Given the description of an element on the screen output the (x, y) to click on. 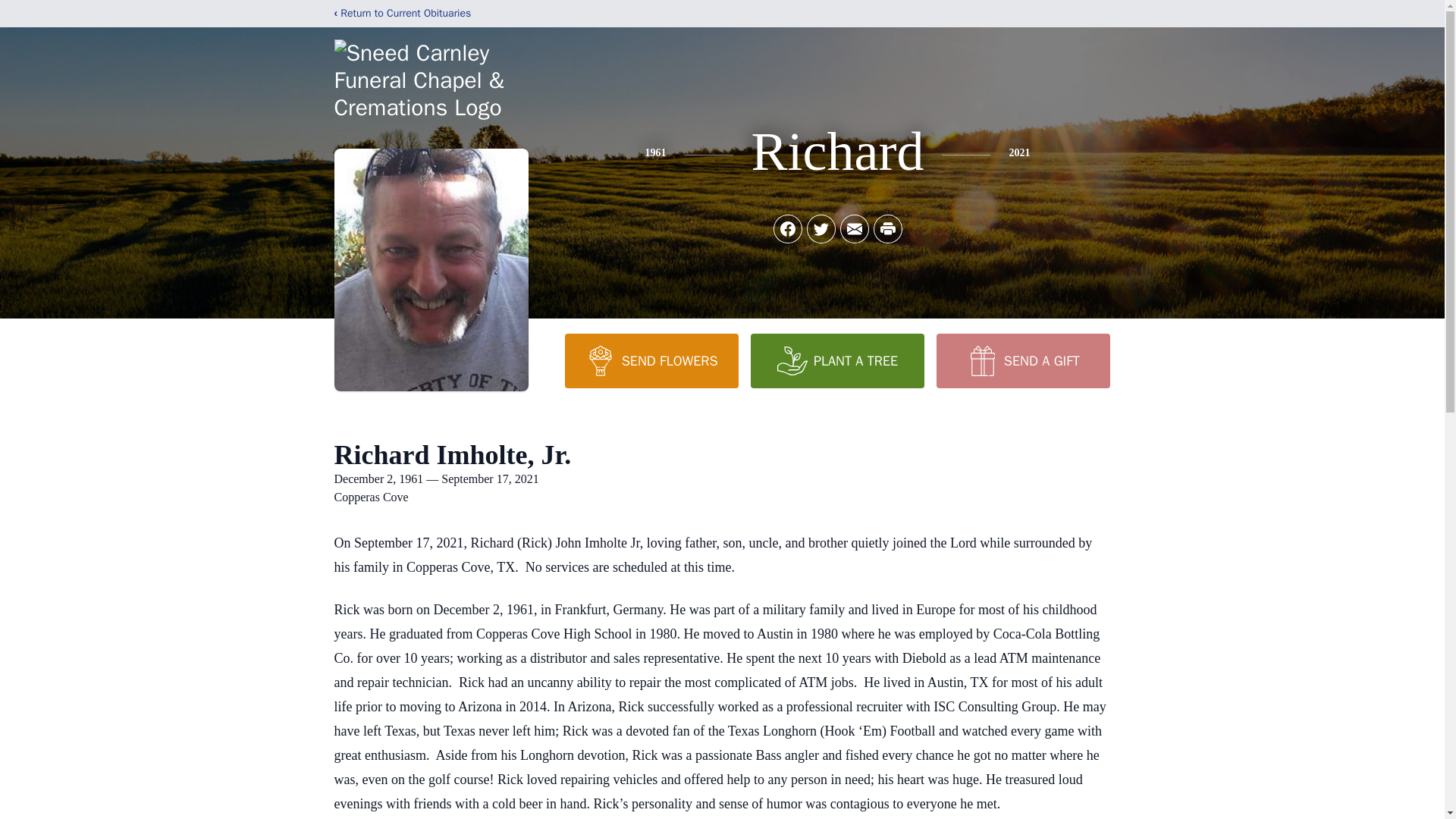
PLANT A TREE (837, 360)
SEND A GIFT (1022, 360)
SEND FLOWERS (651, 360)
